Given the description of an element on the screen output the (x, y) to click on. 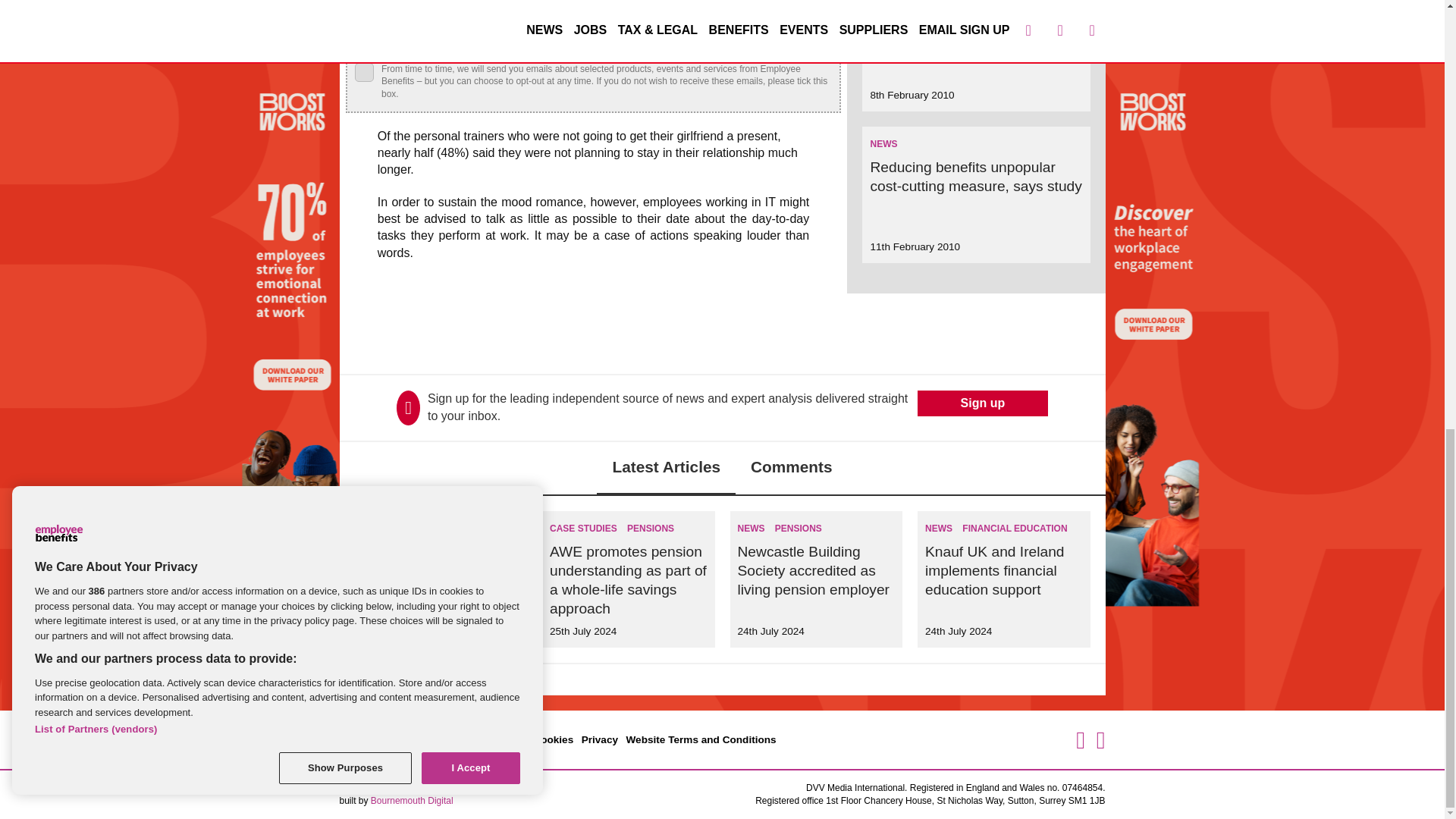
Submit (796, 35)
Reducing benefits unpopular cost-cutting measure, says study (975, 176)
PENSIONS (440, 528)
yes (364, 72)
Latest Articles (665, 468)
3rd party ad content (722, 333)
CASE STUDIES (583, 528)
PENSIONS (650, 528)
Comments (791, 468)
Embedding a joined-up savings approach (437, 560)
NEWS (882, 143)
ANALYSIS (384, 528)
Submit (796, 35)
